Given the description of an element on the screen output the (x, y) to click on. 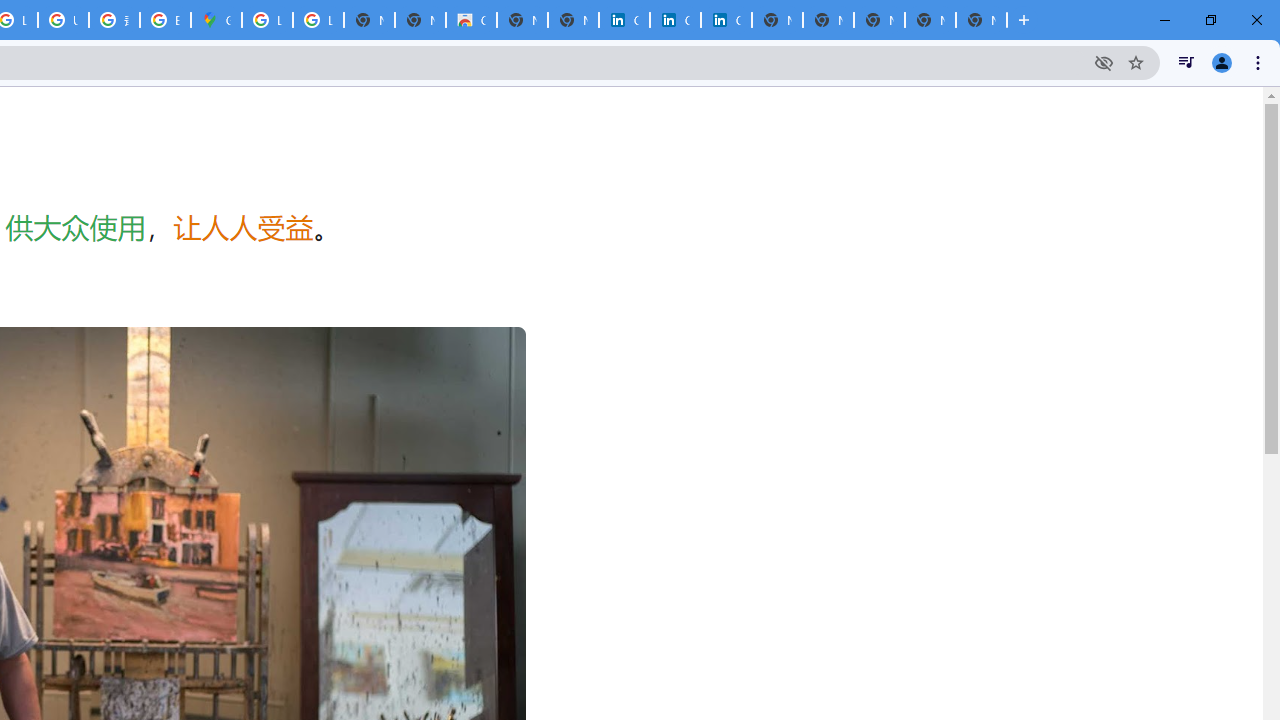
Google Maps (215, 20)
Cookie Policy | LinkedIn (675, 20)
Explore new street-level details - Google Maps Help (164, 20)
Chrome Web Store (470, 20)
